Given the description of an element on the screen output the (x, y) to click on. 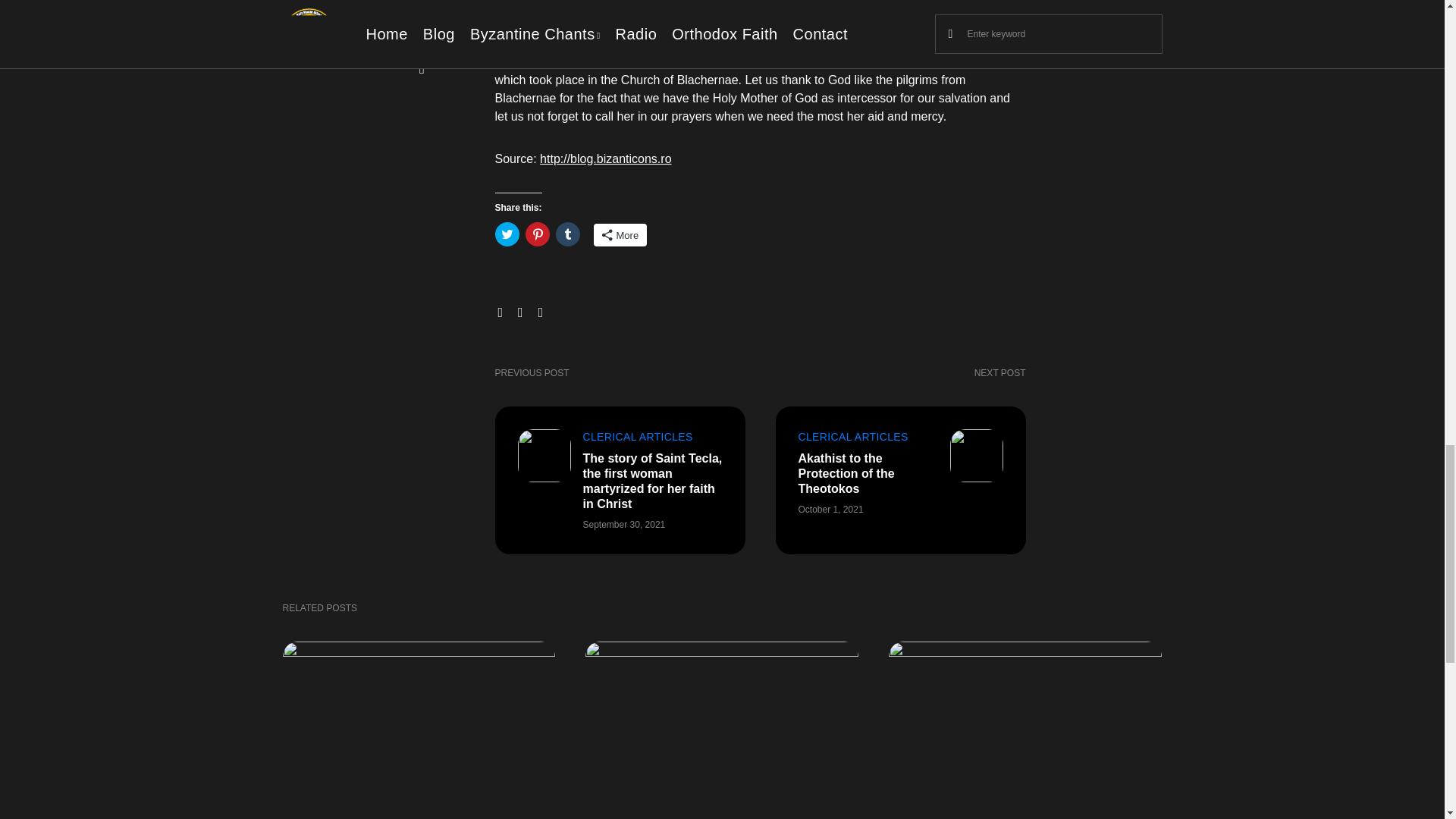
Click to share on Tumblr (566, 233)
Click to share on Twitter (506, 233)
Click to share on Pinterest (536, 233)
